Given the description of an element on the screen output the (x, y) to click on. 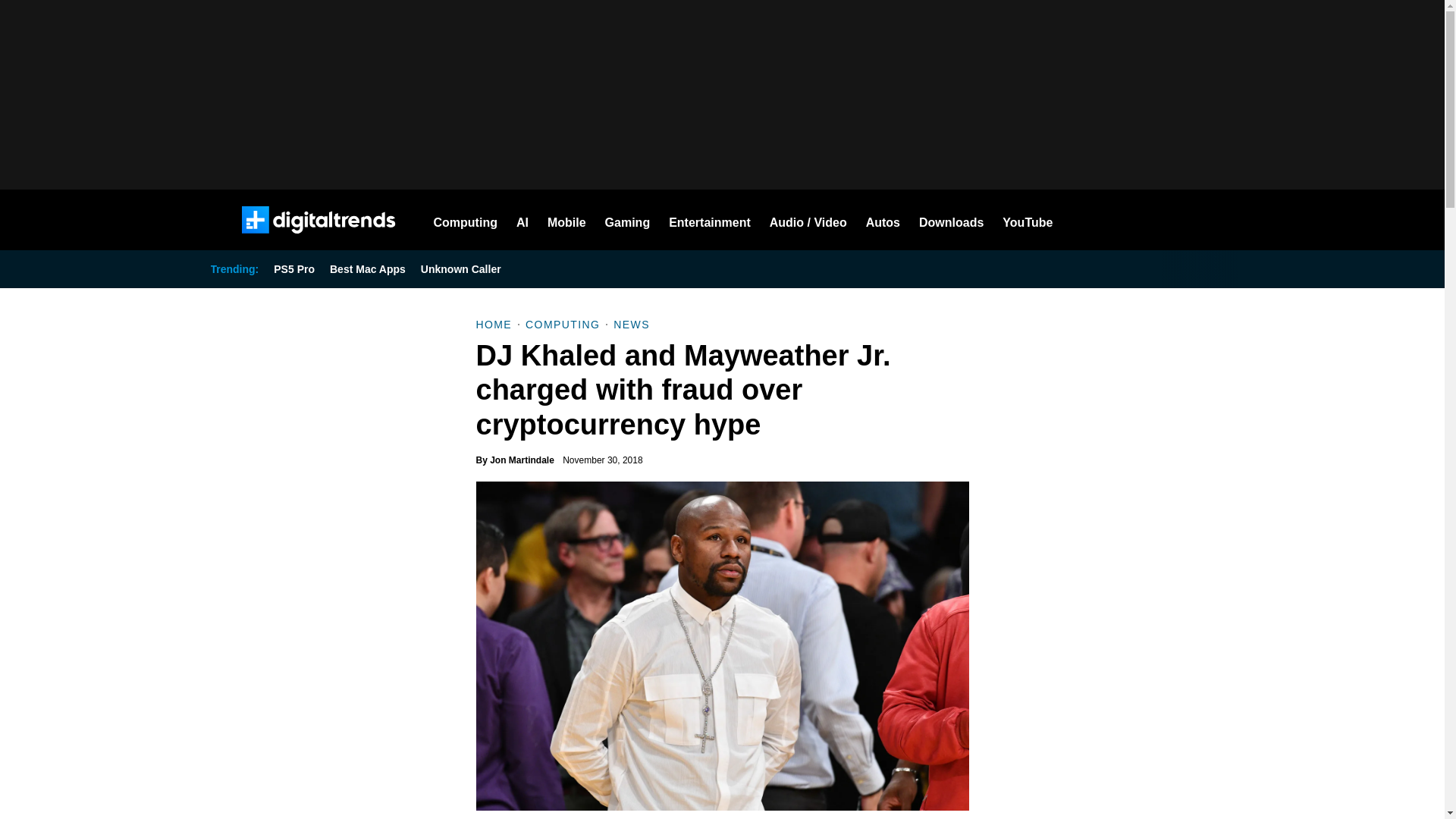
Entertainment (709, 219)
Downloads (951, 219)
Computing (465, 219)
